Given the description of an element on the screen output the (x, y) to click on. 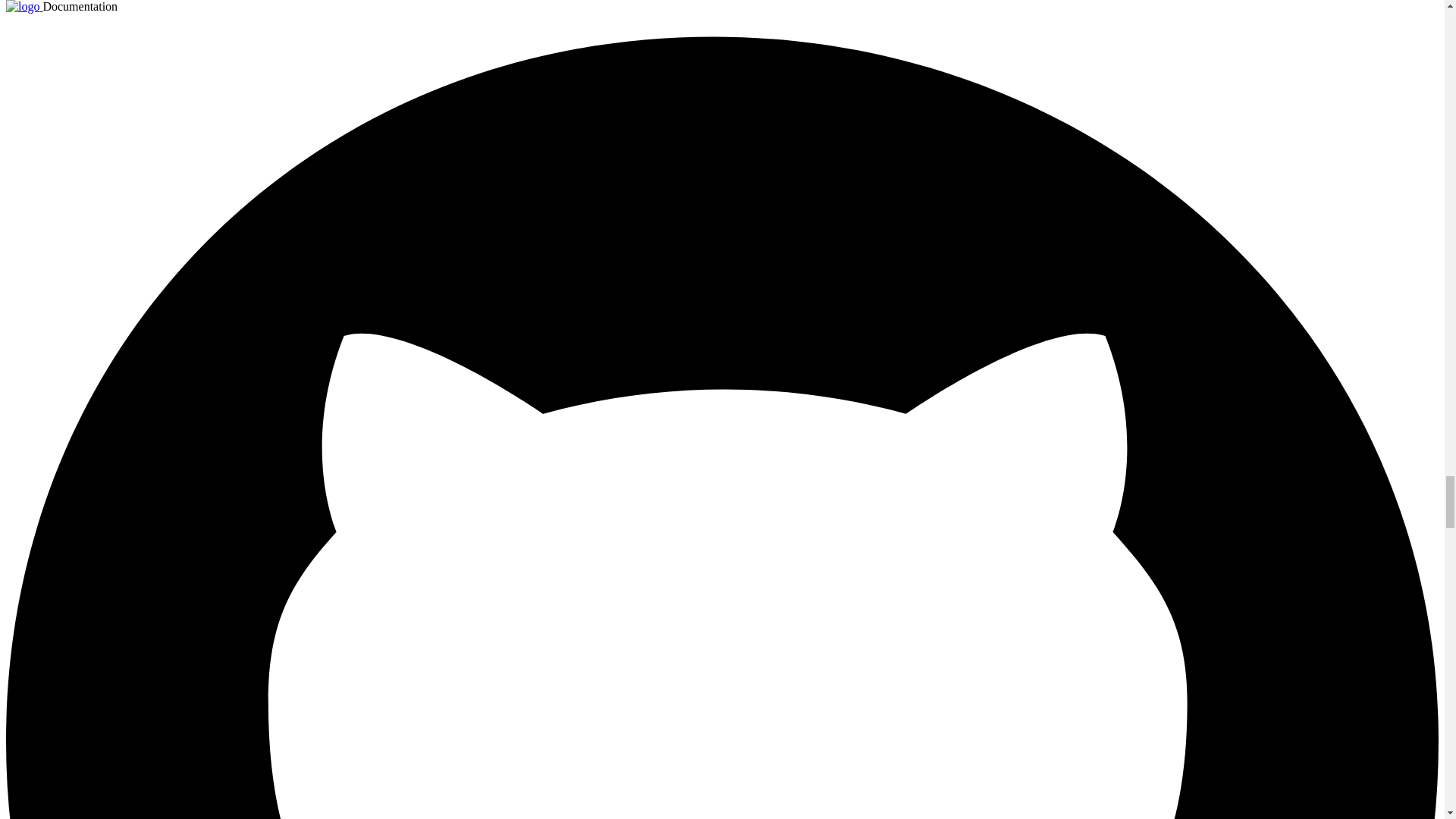
Documentation (23, 6)
